Given the description of an element on the screen output the (x, y) to click on. 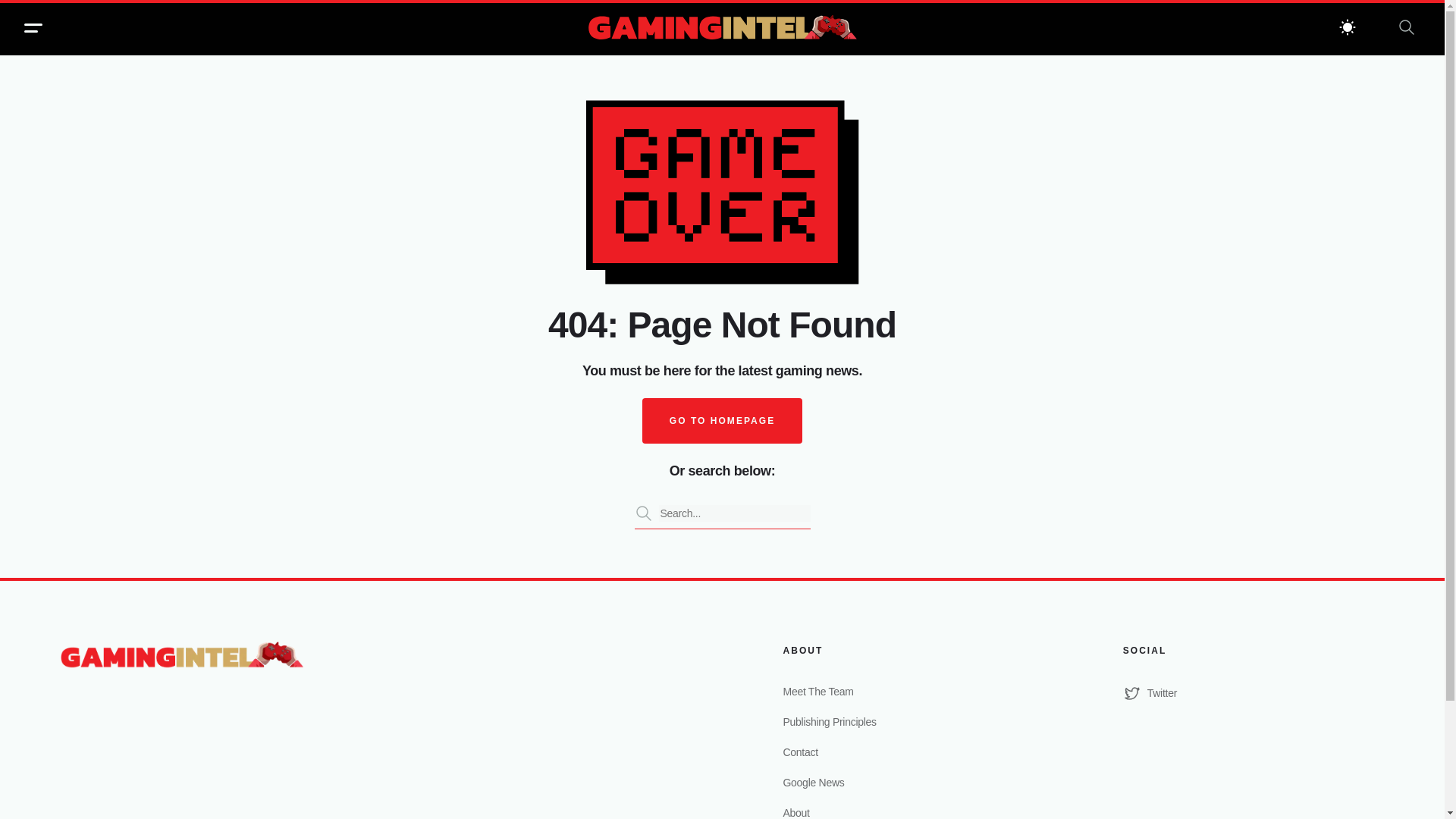
GO TO HOMEPAGE (722, 420)
Google News (913, 782)
About (913, 812)
Twitter (1253, 692)
Publishing Principles (913, 721)
Gaming Intel (722, 28)
Meet The Team (913, 691)
Contact (913, 752)
